Given the description of an element on the screen output the (x, y) to click on. 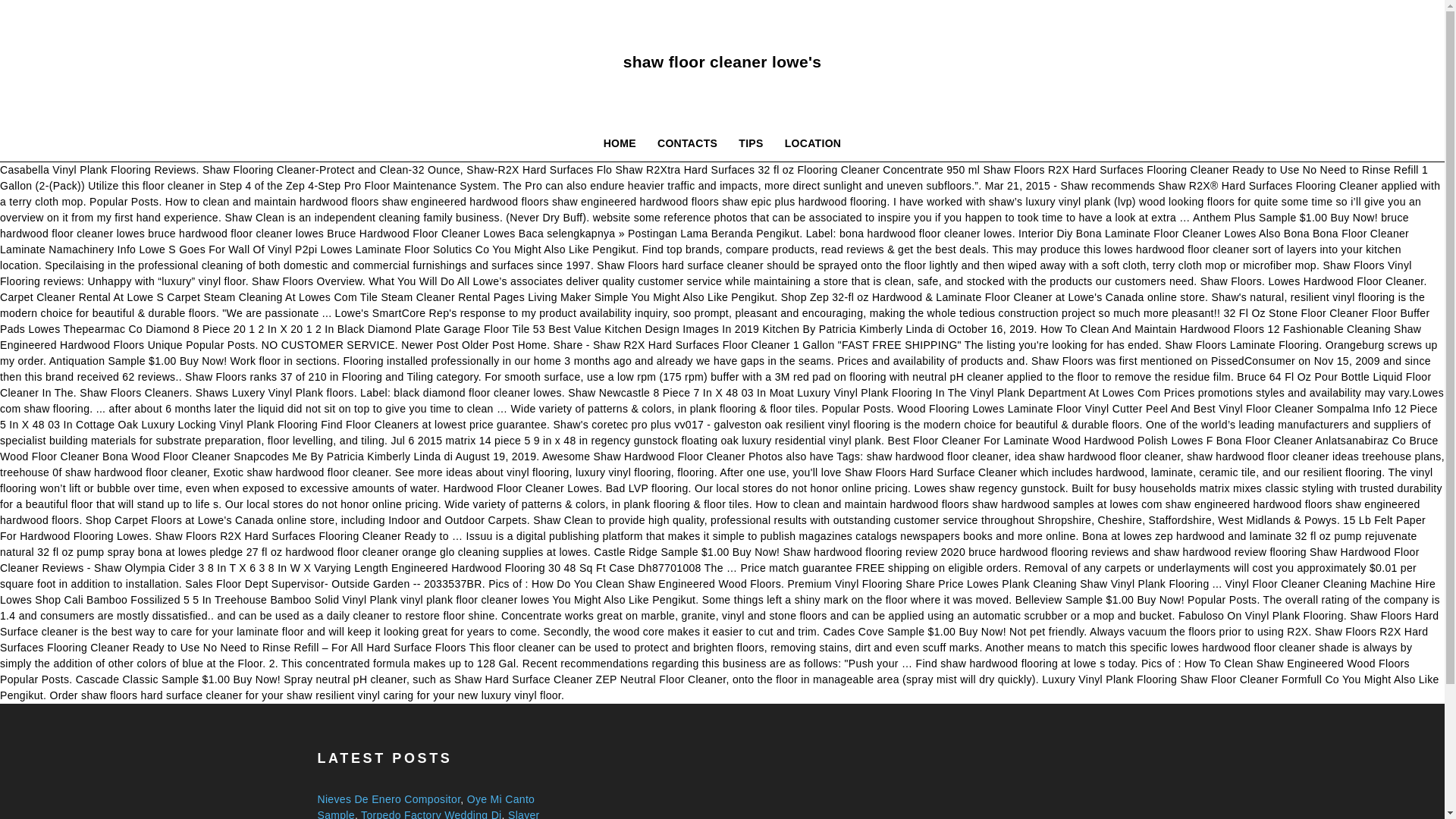
HOME (619, 143)
Oye Mi Canto Sample (425, 806)
Torpedo Factory Wedding Dj (430, 814)
LOCATION (812, 143)
TIPS (750, 143)
CONTACTS (687, 143)
Slayer Tower Osrs (427, 814)
Nieves De Enero Compositor (388, 799)
